Given the description of an element on the screen output the (x, y) to click on. 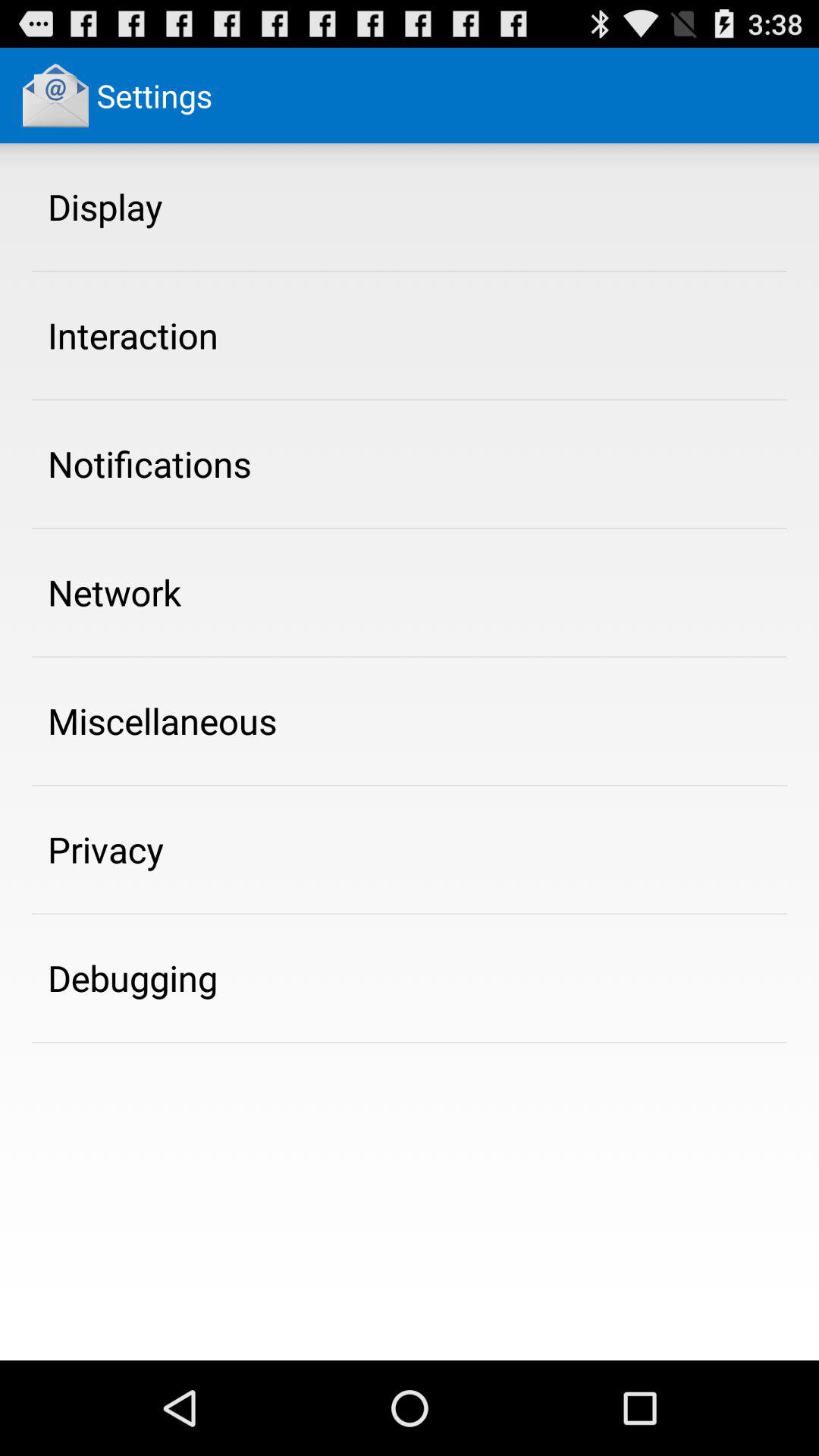
choose the item below the notifications item (114, 592)
